Given the description of an element on the screen output the (x, y) to click on. 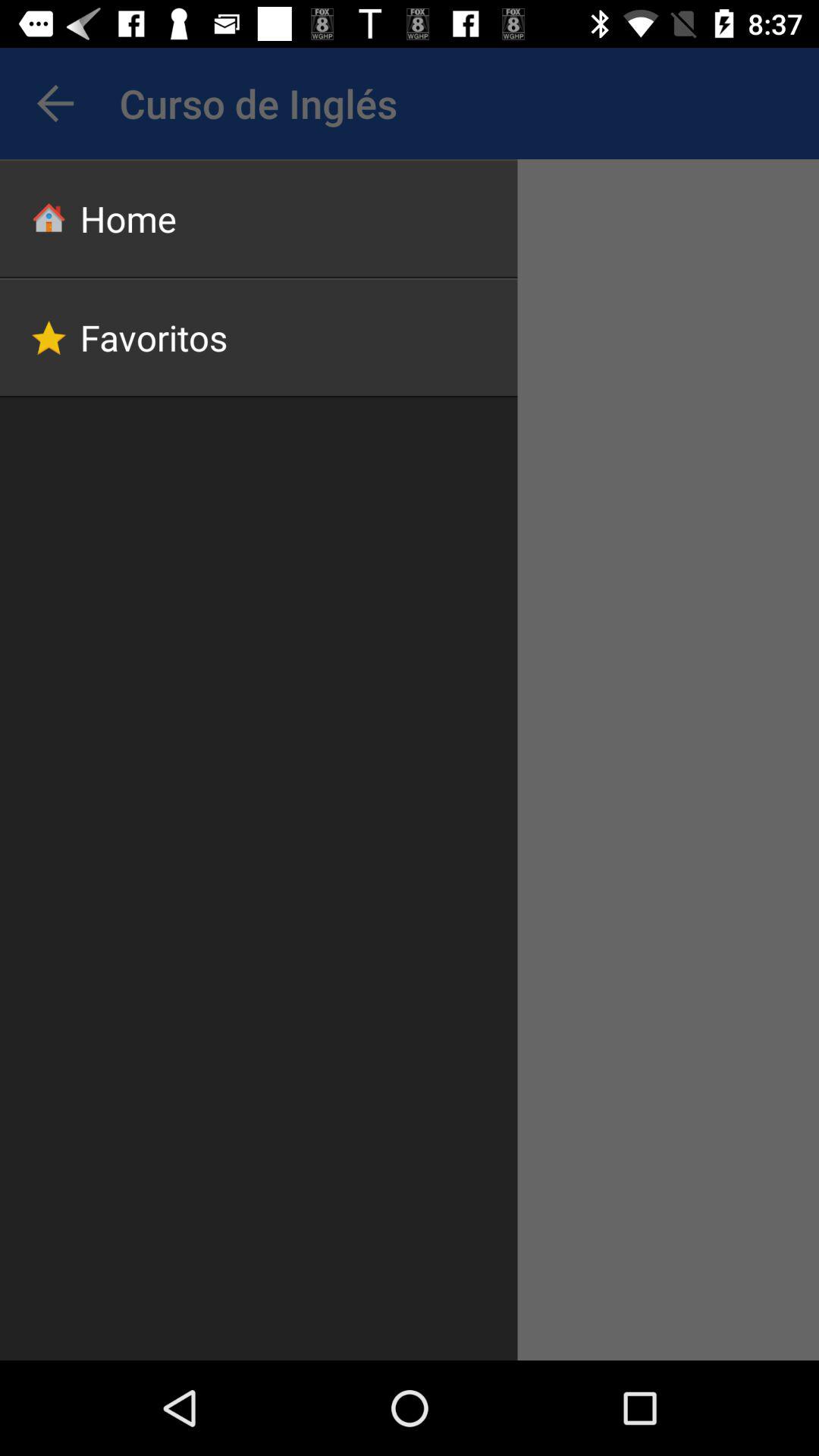
flip until the favoritos item (258, 337)
